Given the description of an element on the screen output the (x, y) to click on. 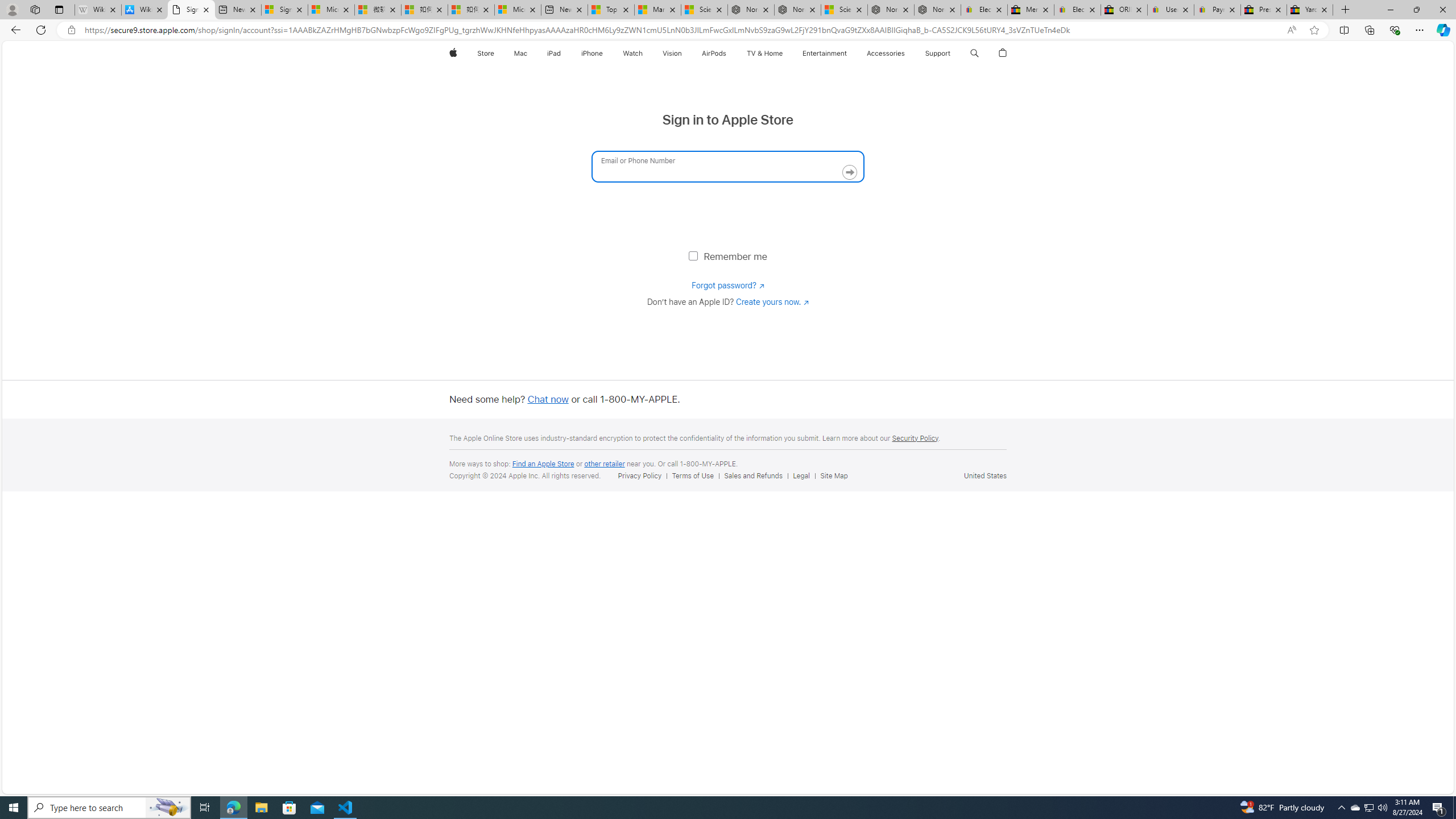
Continue (849, 171)
Email or Phone Number (727, 166)
Privacy Policy (639, 475)
Find an Apple Store (543, 463)
